Given the description of an element on the screen output the (x, y) to click on. 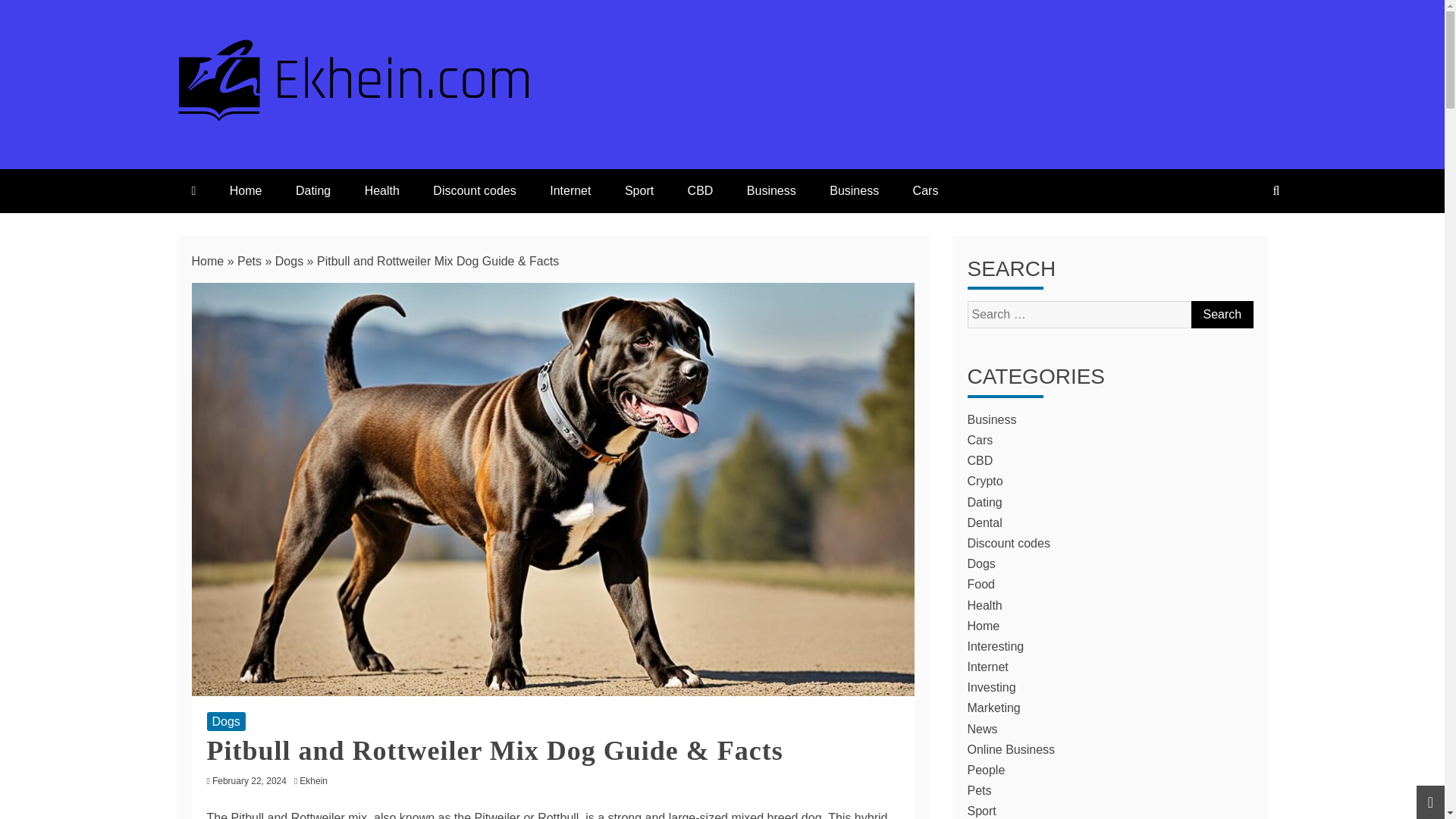
Health (381, 190)
Home (207, 260)
Cars (980, 440)
Search (1221, 314)
Home (246, 190)
February 22, 2024 (249, 780)
Dogs (288, 260)
Search (1221, 314)
Business (992, 419)
CBD (700, 190)
